Given the description of an element on the screen output the (x, y) to click on. 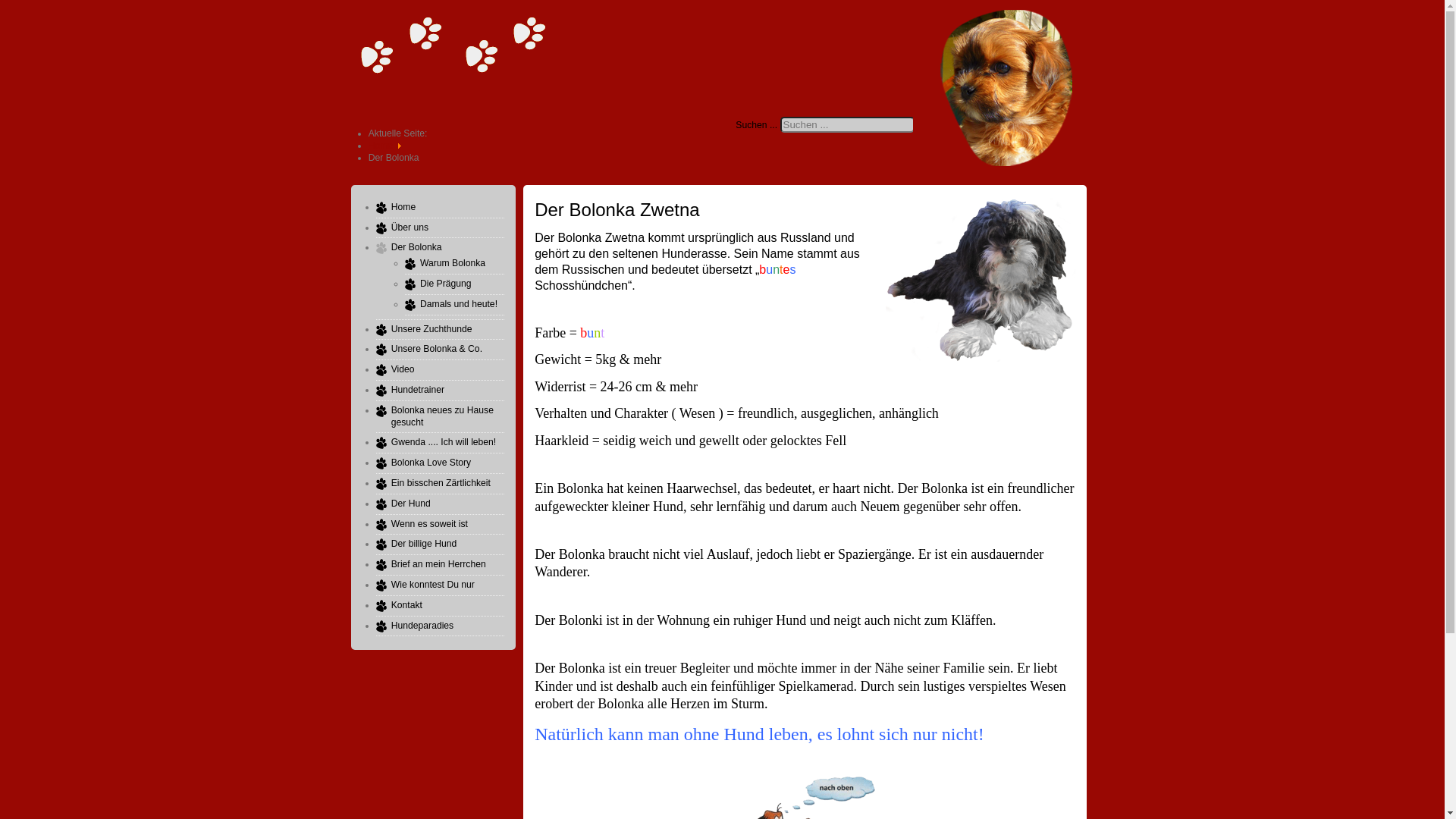
Bolonka neues zu Hause gesucht Element type: text (442, 415)
Unsere Bolonka & Co. Element type: text (436, 348)
Kontakt Element type: text (406, 604)
Home Element type: text (380, 145)
Unsere Zuchthunde Element type: text (431, 328)
Wenn es soweit ist Element type: text (429, 523)
Der billige Hund Element type: text (424, 543)
Bolonka Love Story Element type: text (430, 462)
Der Bolonka Element type: text (416, 246)
Wie konntest Du nur Element type: text (432, 584)
Brief an mein Herrchen Element type: text (438, 563)
Warum Bolonka Element type: text (452, 262)
Video Element type: text (402, 369)
Der Hund Element type: text (410, 503)
Home Element type: text (403, 206)
Gwenda .... Ich will leben! Element type: text (443, 441)
Damals und heute! Element type: text (458, 303)
Hundeparadies Element type: text (422, 625)
Hundetrainer Element type: text (417, 389)
